Given the description of an element on the screen output the (x, y) to click on. 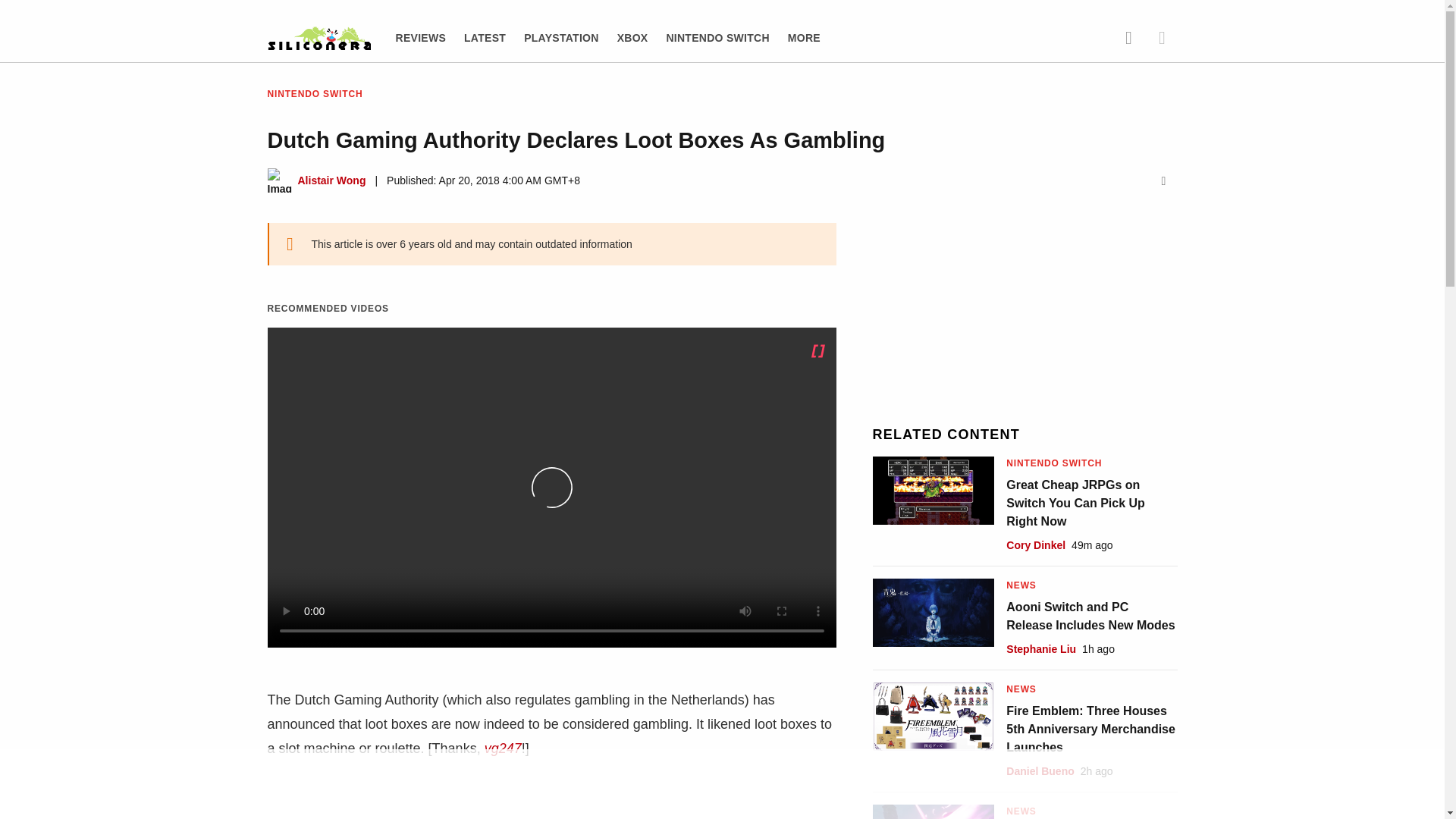
3rd party ad content (721, 785)
Search (1127, 37)
3rd party ad content (1024, 317)
XBOX (632, 37)
PLAYSTATION (561, 37)
REVIEWS (421, 37)
NINTENDO SWITCH (716, 37)
LATEST (484, 37)
Dark Mode (1161, 37)
